Given the description of an element on the screen output the (x, y) to click on. 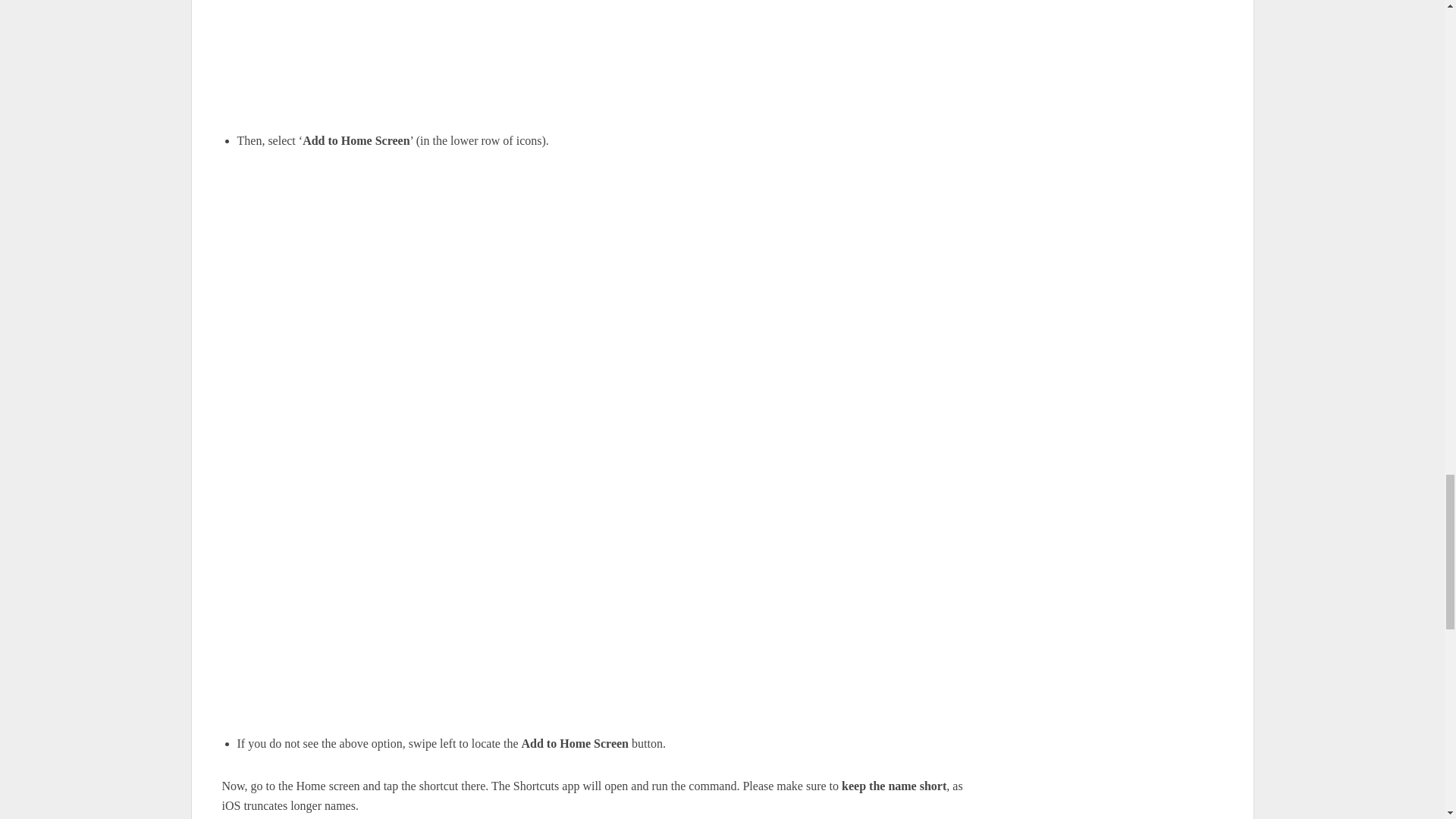
run shortcuts from iPhone Home Screen (592, 54)
